Given the description of an element on the screen output the (x, y) to click on. 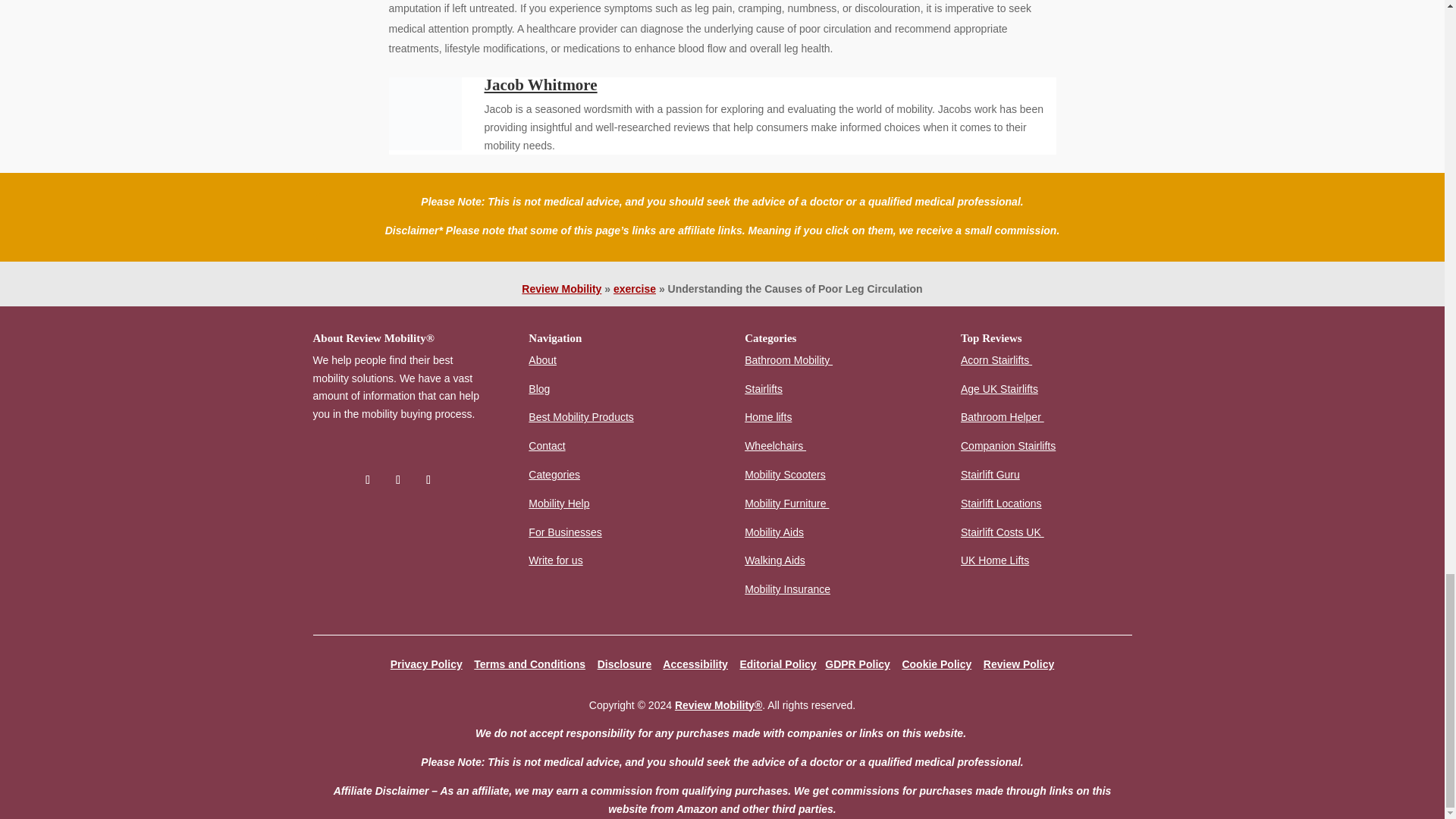
Review Mobility (561, 288)
Follow on Instagram (428, 479)
Follow on Facebook (367, 479)
Follow on X (397, 479)
exercise (634, 288)
